Given the description of an element on the screen output the (x, y) to click on. 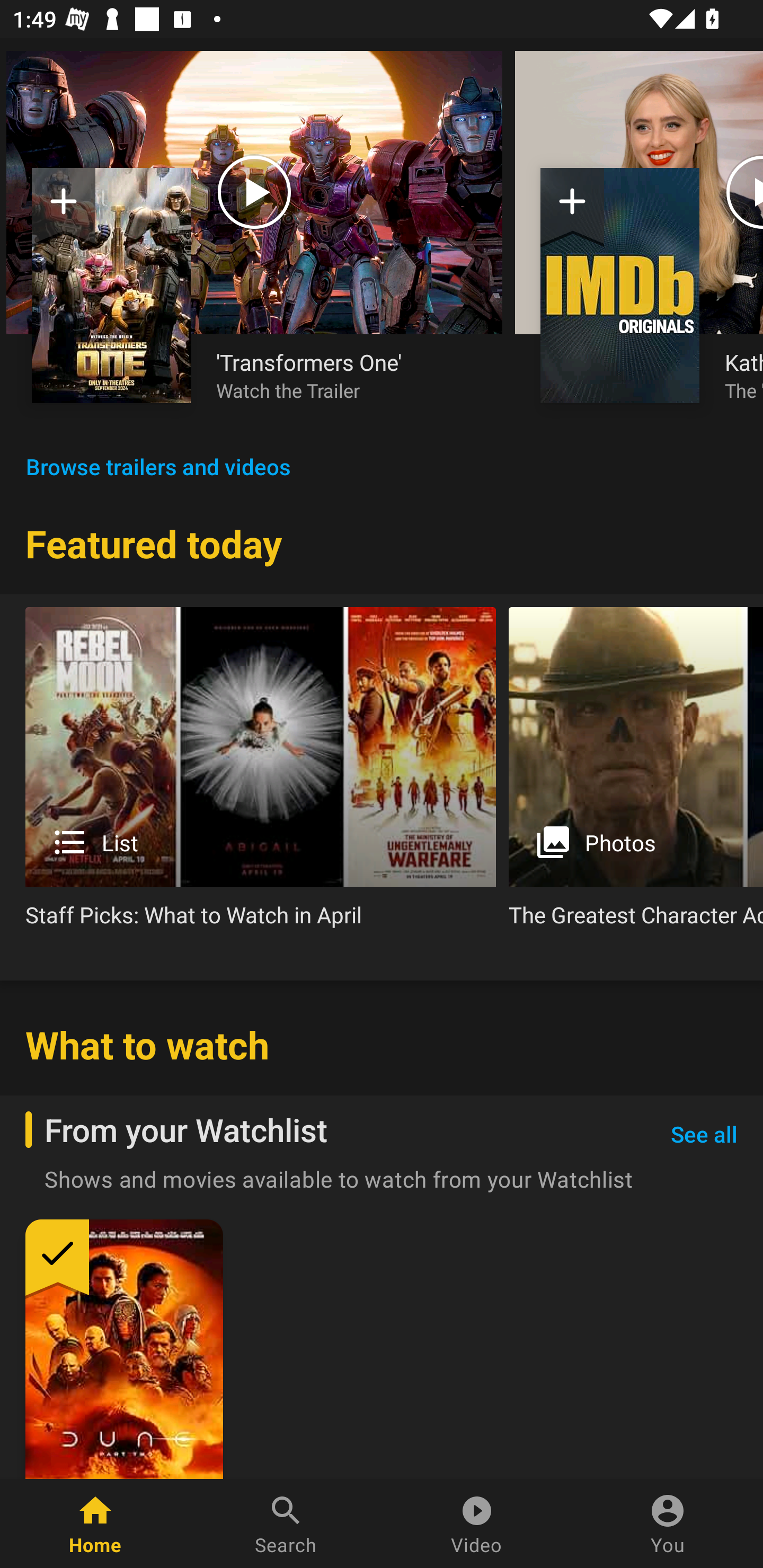
Not in watchlist (111, 284)
Not in watchlist (63, 207)
Not in watchlist (619, 284)
Not in watchlist (572, 207)
'Transformers One' Watch the Trailer (345, 374)
List Staff Picks: What to Watch in April (260, 774)
Photos The Greatest Character Actors of All Time (635, 774)
See all See all From your Watchlist (703, 1134)
Search (285, 1523)
Video (476, 1523)
You (667, 1523)
